Given the description of an element on the screen output the (x, y) to click on. 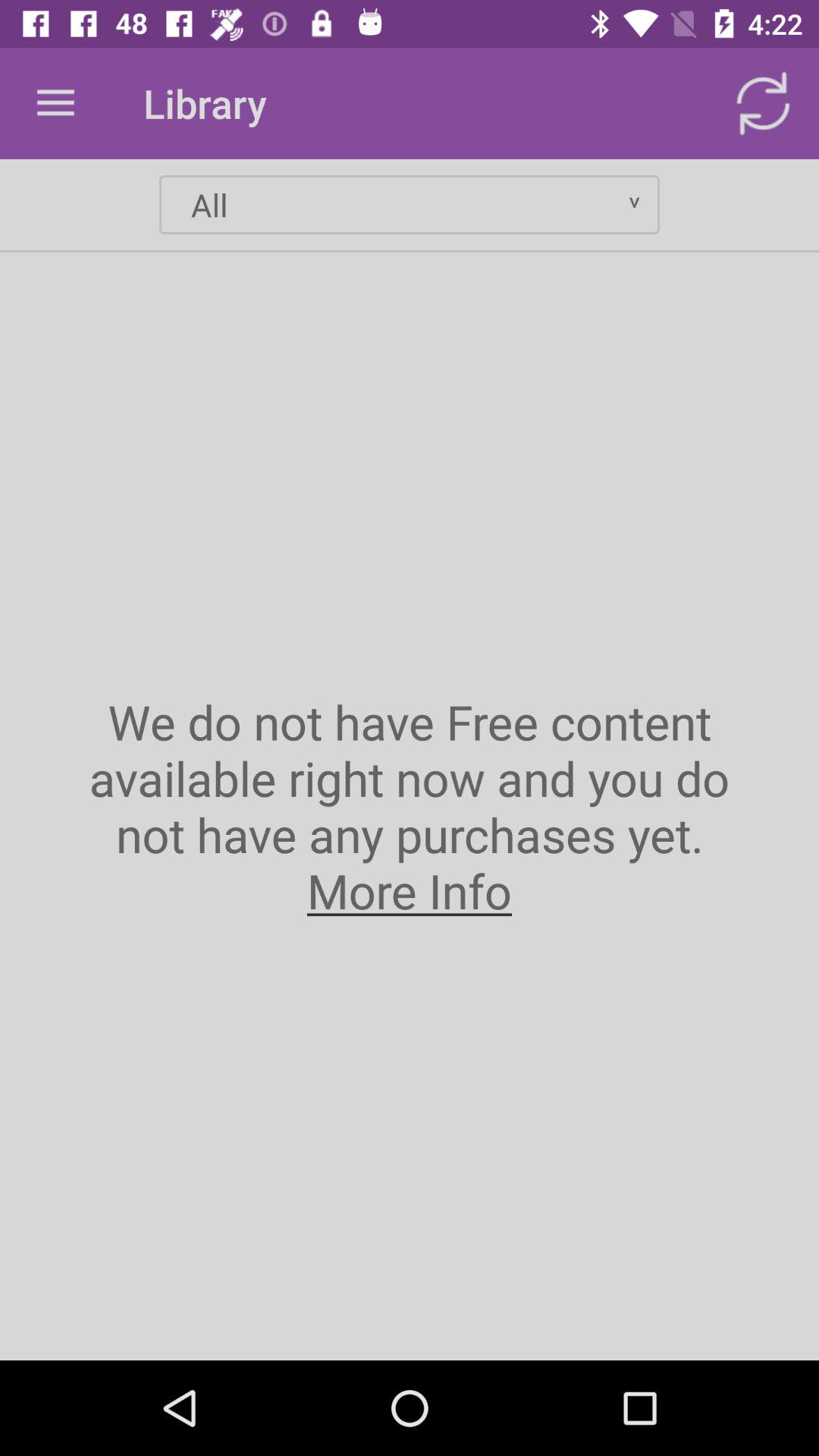
select the icon to the right of library icon (763, 103)
